Given the description of an element on the screen output the (x, y) to click on. 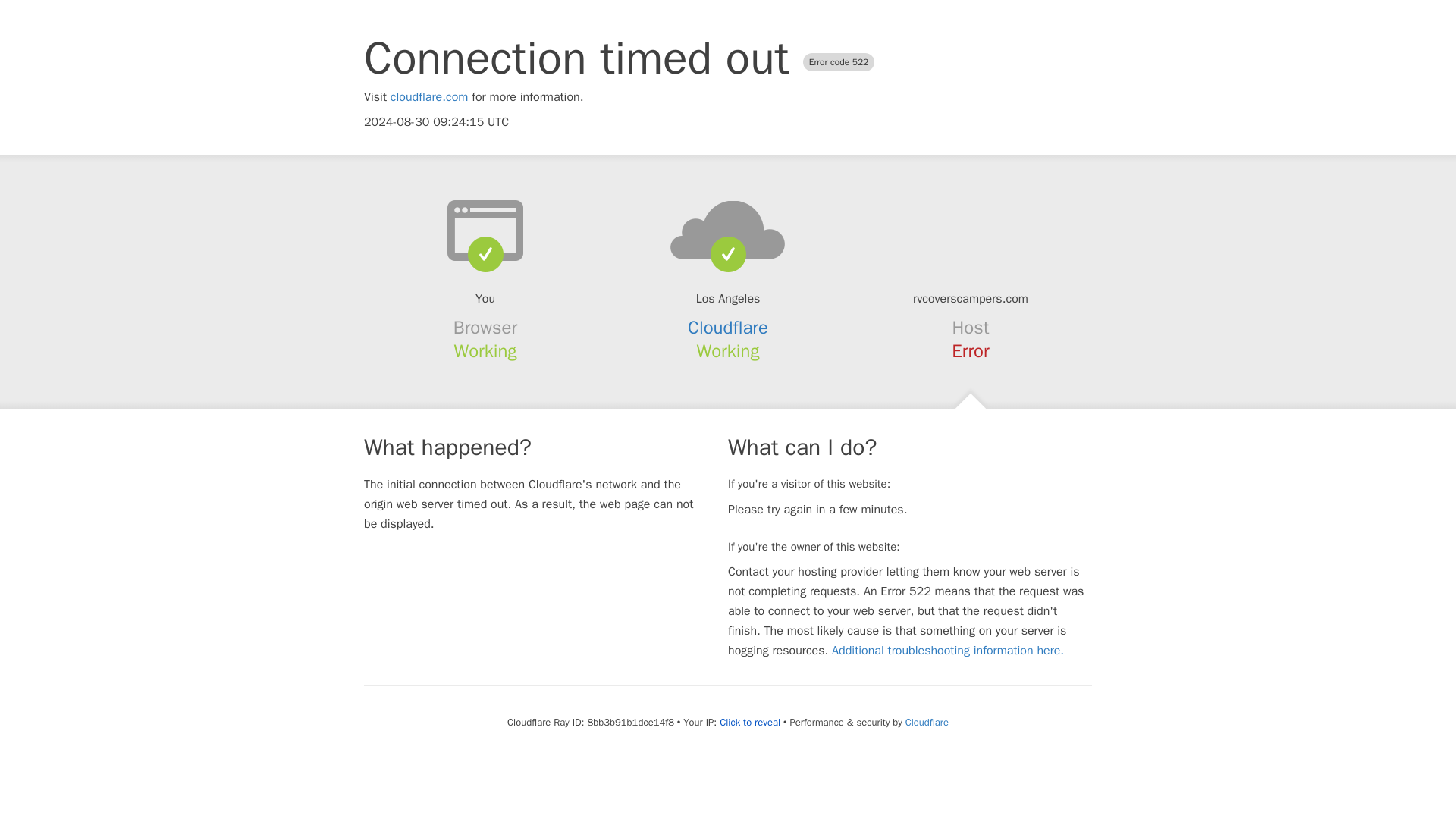
Cloudflare (727, 327)
Click to reveal (749, 722)
Additional troubleshooting information here. (947, 650)
Cloudflare (927, 721)
cloudflare.com (429, 96)
